Given the description of an element on the screen output the (x, y) to click on. 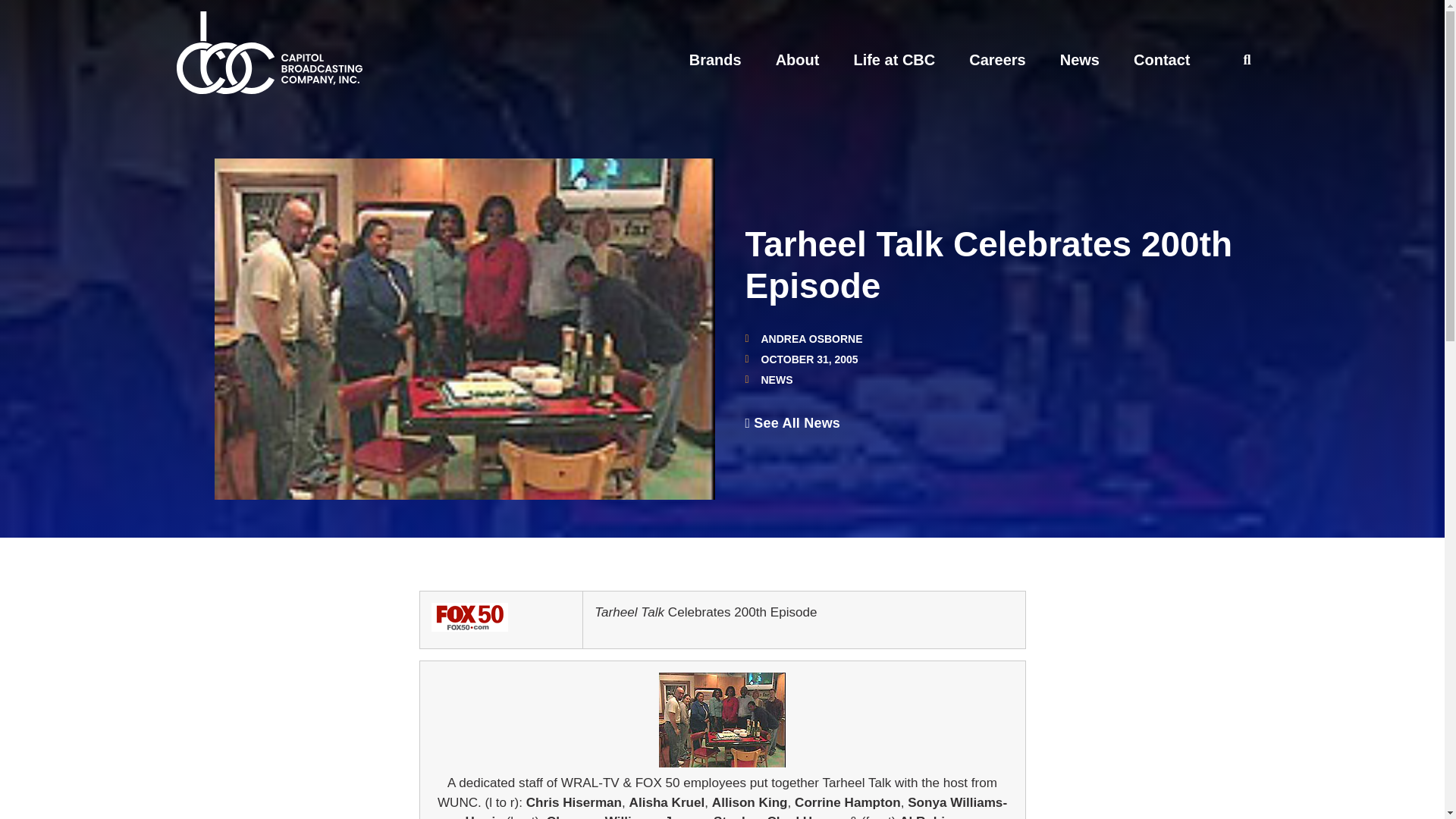
NEWS (777, 379)
OCTOBER 31, 2005 (800, 358)
Brands (714, 59)
Contact (1161, 59)
News (1079, 59)
Careers (997, 59)
Life at CBC (893, 59)
See All News (792, 422)
About (797, 59)
ANDREA OSBORNE (802, 338)
